Given the description of an element on the screen output the (x, y) to click on. 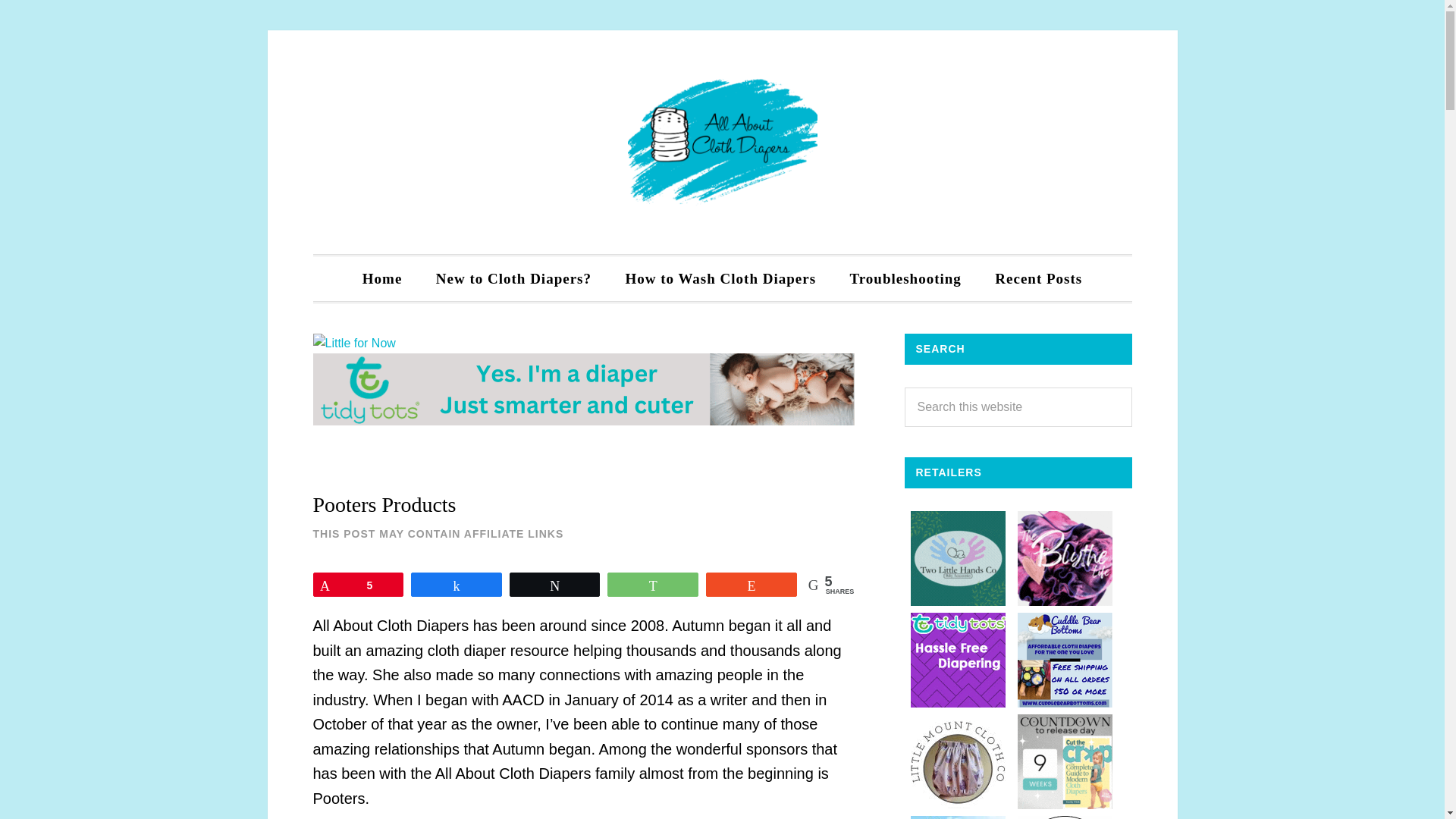
New to Cloth Diapers? (513, 278)
5 (358, 584)
Recent posts (1038, 278)
Recent Posts (1038, 278)
Home (382, 278)
ALL ABOUT CLOTH DIAPERS (721, 142)
Troubleshooting (905, 278)
How to Wash Cloth Diapers (720, 278)
